Given the description of an element on the screen output the (x, y) to click on. 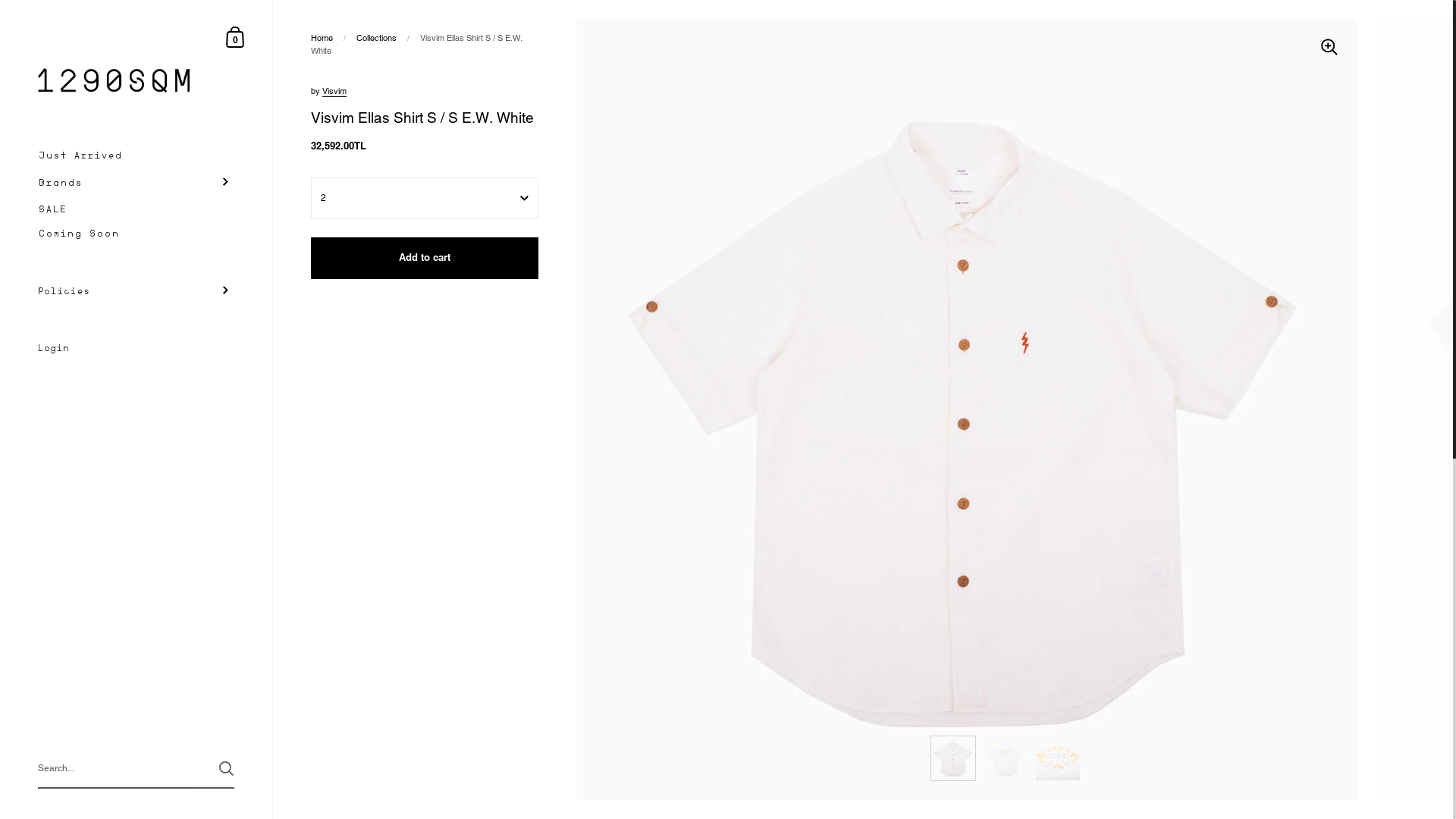
Policies Element type: text (136, 290)
SALE Element type: text (136, 208)
Add to cart Element type: text (424, 258)
Visvim Element type: text (334, 91)
0 Element type: text (235, 36)
Brands Element type: text (136, 181)
Coming Soon Element type: text (136, 232)
Home Element type: text (321, 37)
Just Arrived Element type: text (136, 154)
Collections Element type: text (376, 37)
Login Element type: text (136, 347)
